Given the description of an element on the screen output the (x, y) to click on. 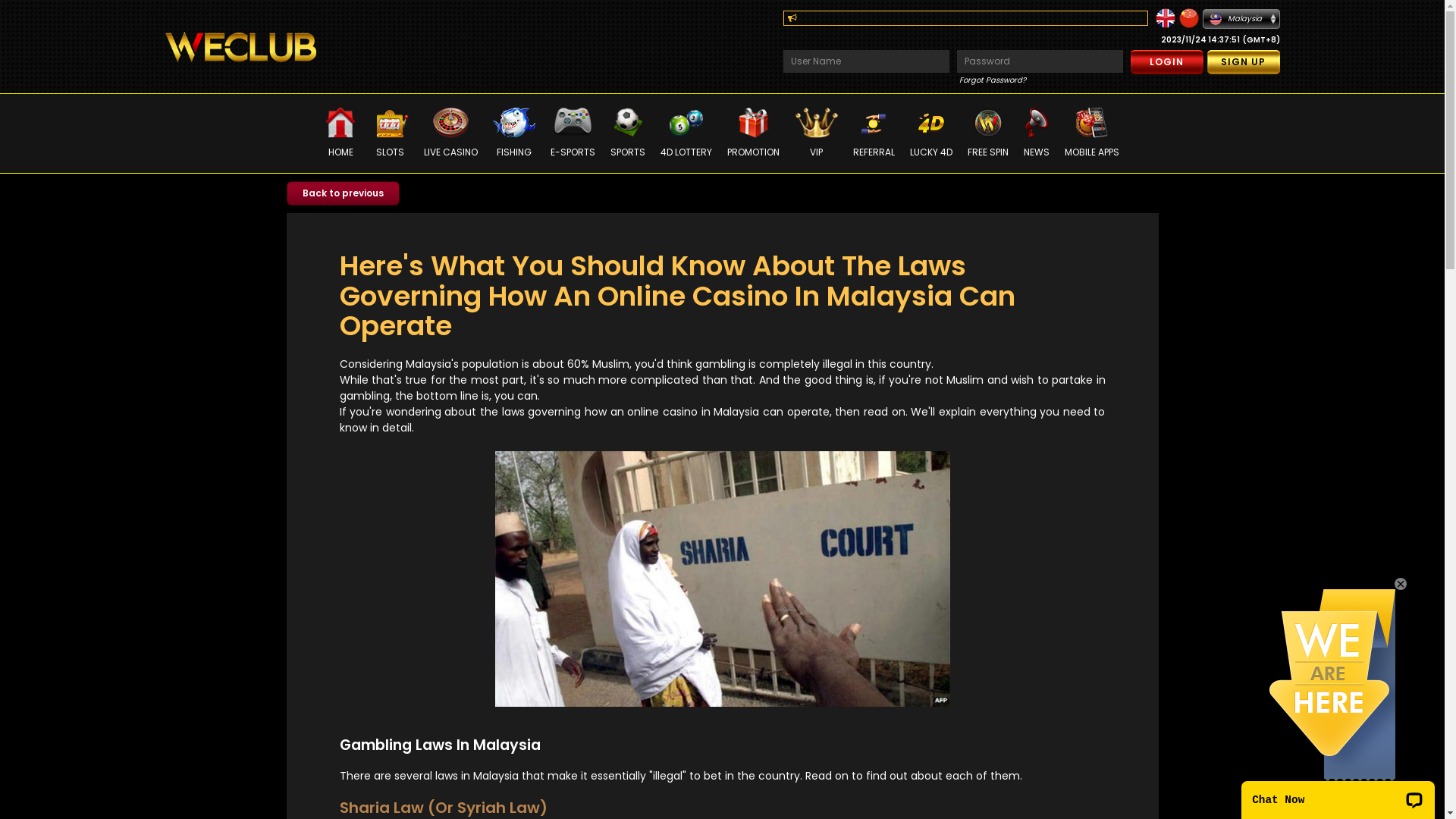
4D LOTTERY Element type: text (686, 133)
MOBILE APPS Element type: text (1091, 133)
LOGIN Element type: text (1165, 62)
Forgot Password? Element type: text (991, 79)
NEWS Element type: text (1036, 133)
HOME Element type: text (340, 133)
FREE SPIN Element type: text (987, 133)
PROMOTION Element type: text (753, 133)
SLOTS Element type: text (389, 133)
SIGN UP Element type: text (1243, 62)
VIP Element type: text (815, 133)
REFERRAL Element type: text (873, 133)
FISHING Element type: text (513, 133)
SPORTS Element type: text (627, 133)
LIVE CASINO Element type: text (450, 133)
LUCKY 4D Element type: text (931, 133)
E-SPORTS Element type: text (572, 133)
Back to previous Element type: text (342, 193)
